Given the description of an element on the screen output the (x, y) to click on. 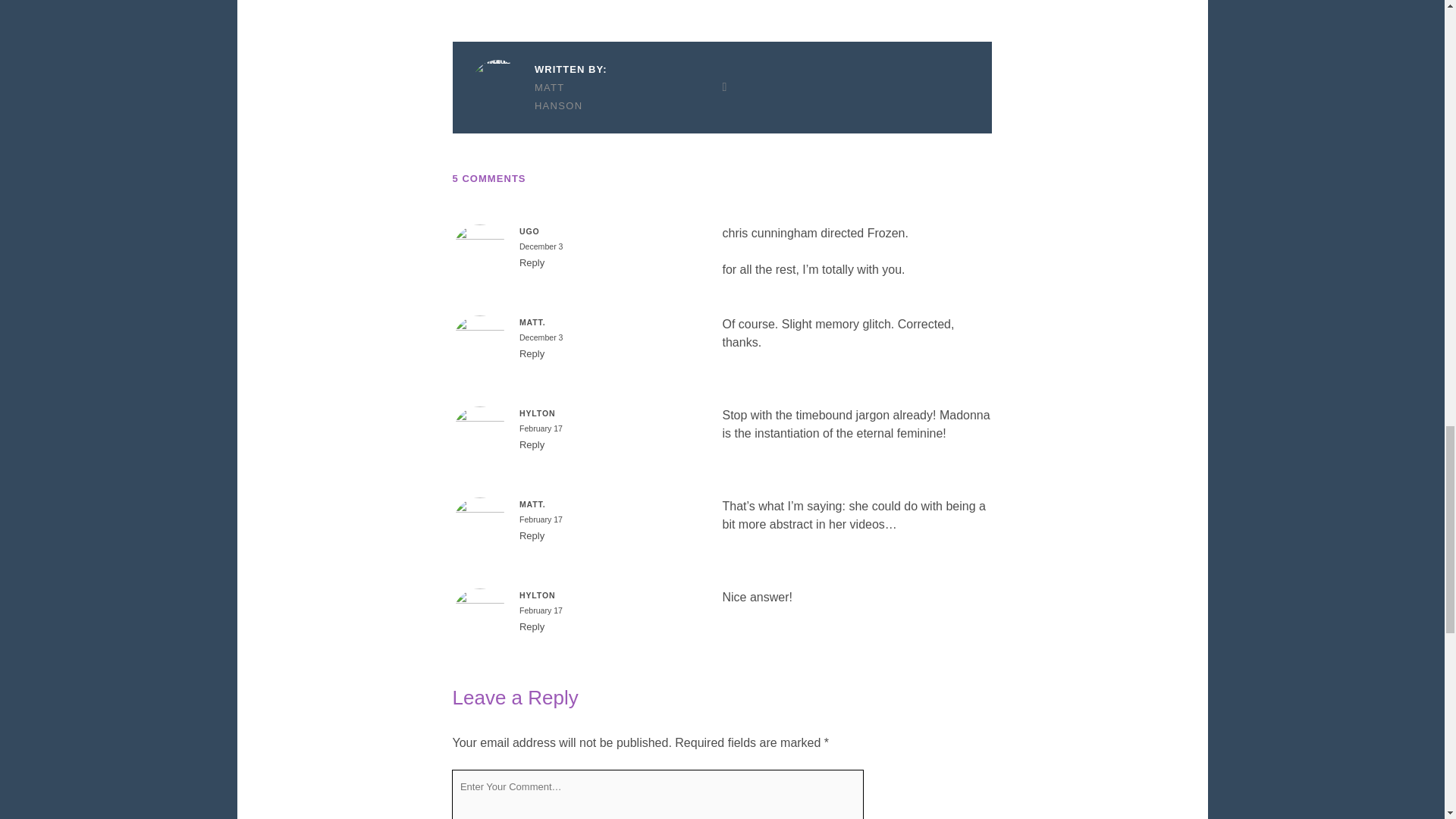
Posts by Matt Hanson (538, 96)
Reply (531, 444)
Reply (531, 535)
Reply (531, 262)
Reply (531, 626)
Reply (531, 353)
UGO (529, 230)
MATT HANSON (538, 96)
